Given the description of an element on the screen output the (x, y) to click on. 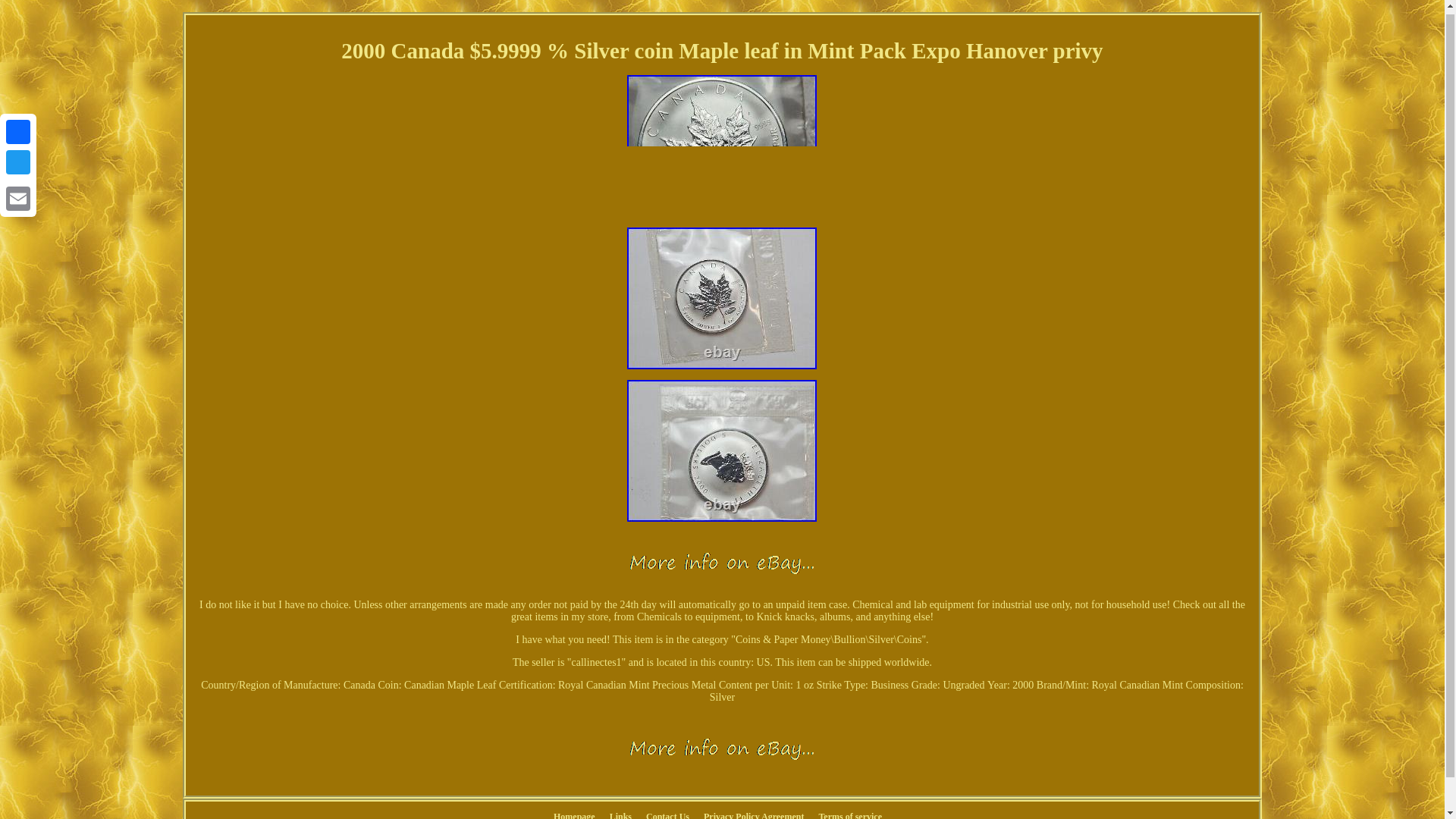
Facebook (17, 128)
Email (17, 194)
Twitter (17, 158)
